Given the description of an element on the screen output the (x, y) to click on. 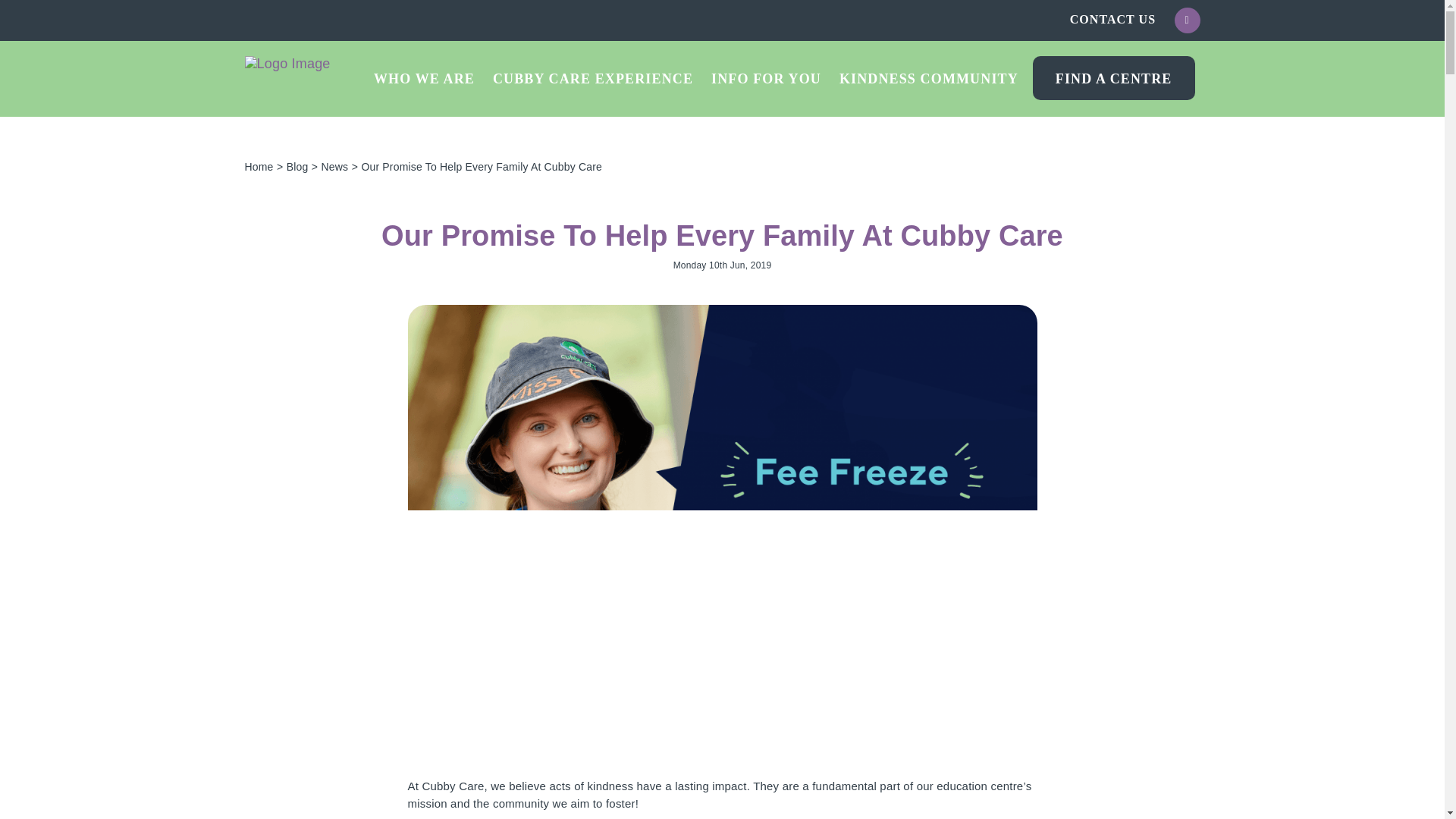
CONTACT US (1113, 19)
Who We Are (424, 77)
Cubby Care Experience (593, 77)
Kindness Community (928, 77)
FIND A CENTRE (1113, 77)
Home (258, 166)
CUBBY CARE EXPERIENCE (593, 77)
INFO FOR YOU (766, 77)
Info for You (766, 77)
KINDNESS COMMUNITY (928, 77)
